Given the description of an element on the screen output the (x, y) to click on. 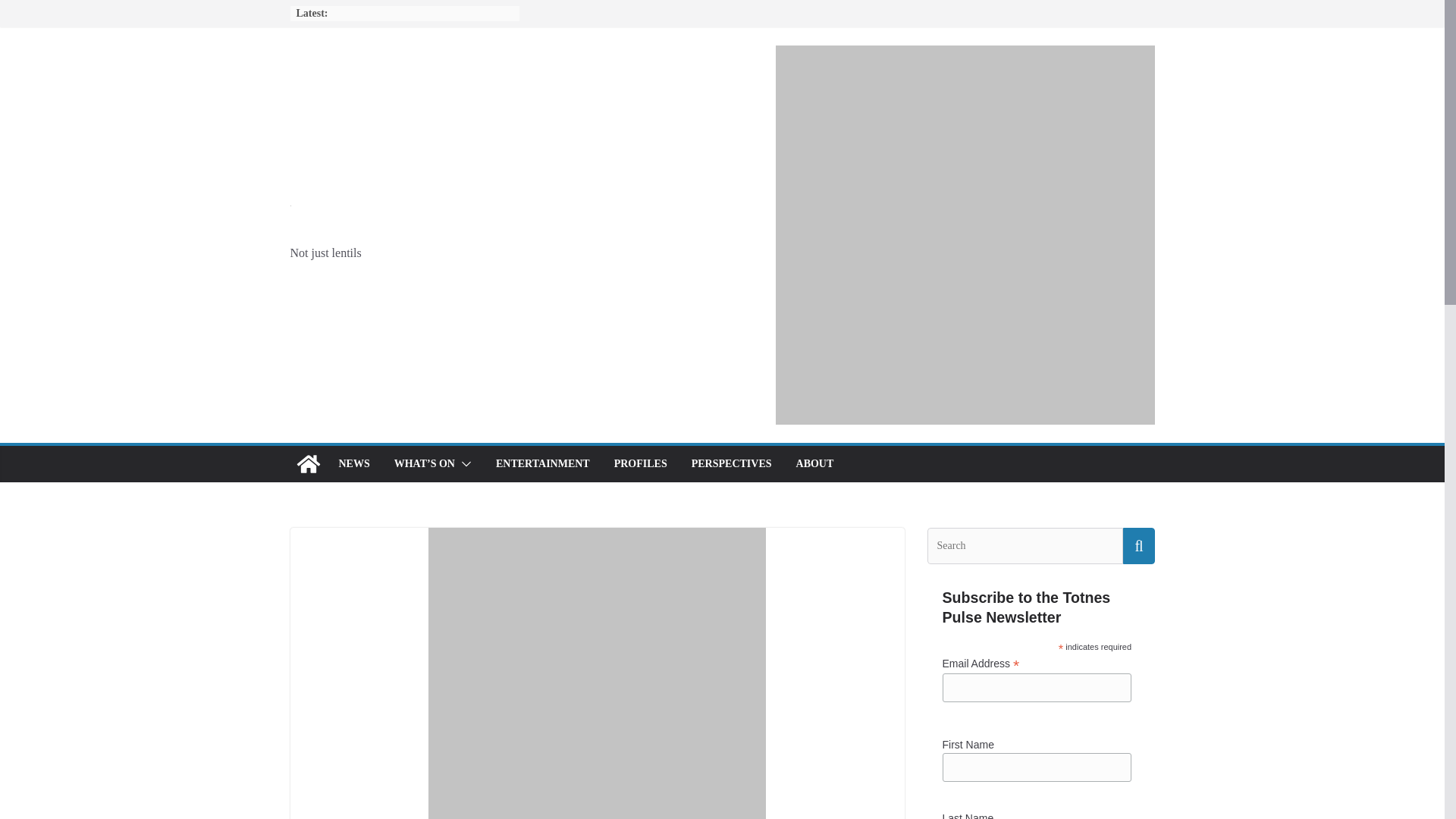
ENTERTAINMENT (542, 464)
ABOUT (815, 464)
PROFILES (640, 464)
PERSPECTIVES (731, 464)
NEWS (353, 464)
Totnes Pulse (307, 463)
